Given the description of an element on the screen output the (x, y) to click on. 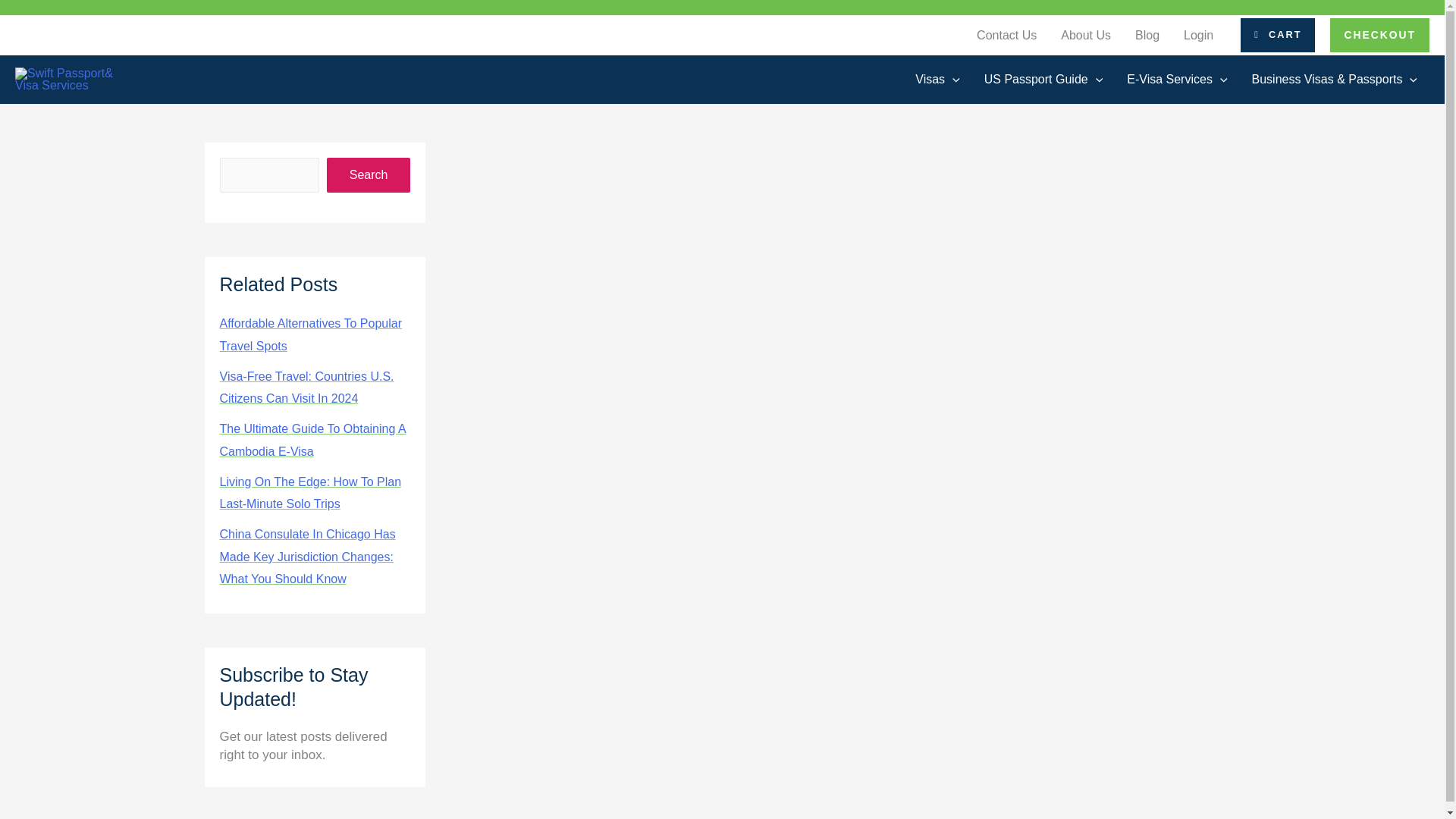
Contact Us (1005, 35)
E-Visa Services (1177, 78)
Login (1198, 35)
Blog (1147, 35)
CART (1277, 35)
CHECKOUT (1379, 35)
About Us (1085, 35)
Visas (936, 78)
US Passport Guide (1043, 78)
